Given the description of an element on the screen output the (x, y) to click on. 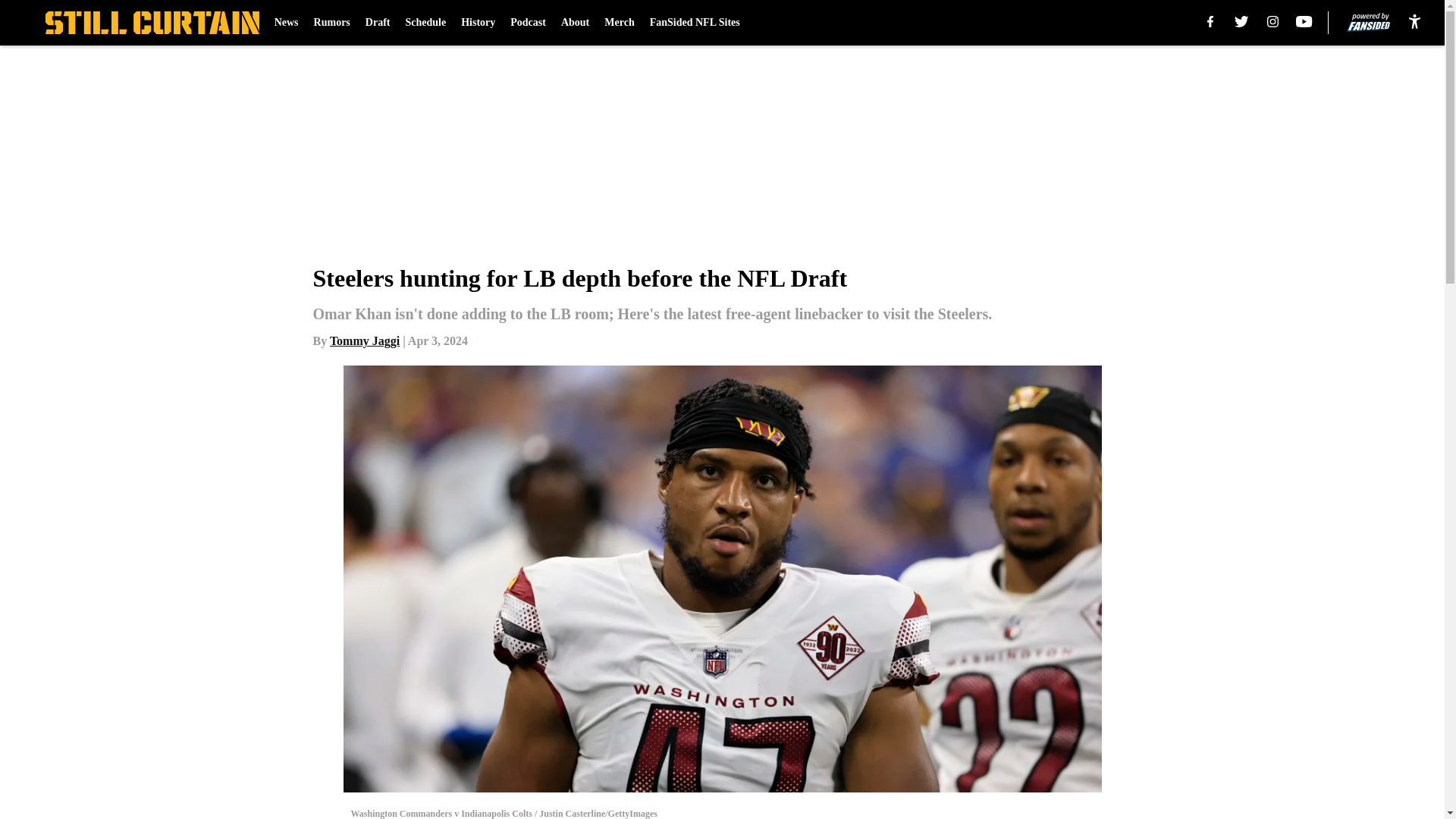
Draft (377, 22)
History (478, 22)
Rumors (332, 22)
Tommy Jaggi (364, 340)
Schedule (424, 22)
Merch (618, 22)
FanSided NFL Sites (694, 22)
About (574, 22)
News (286, 22)
